Given the description of an element on the screen output the (x, y) to click on. 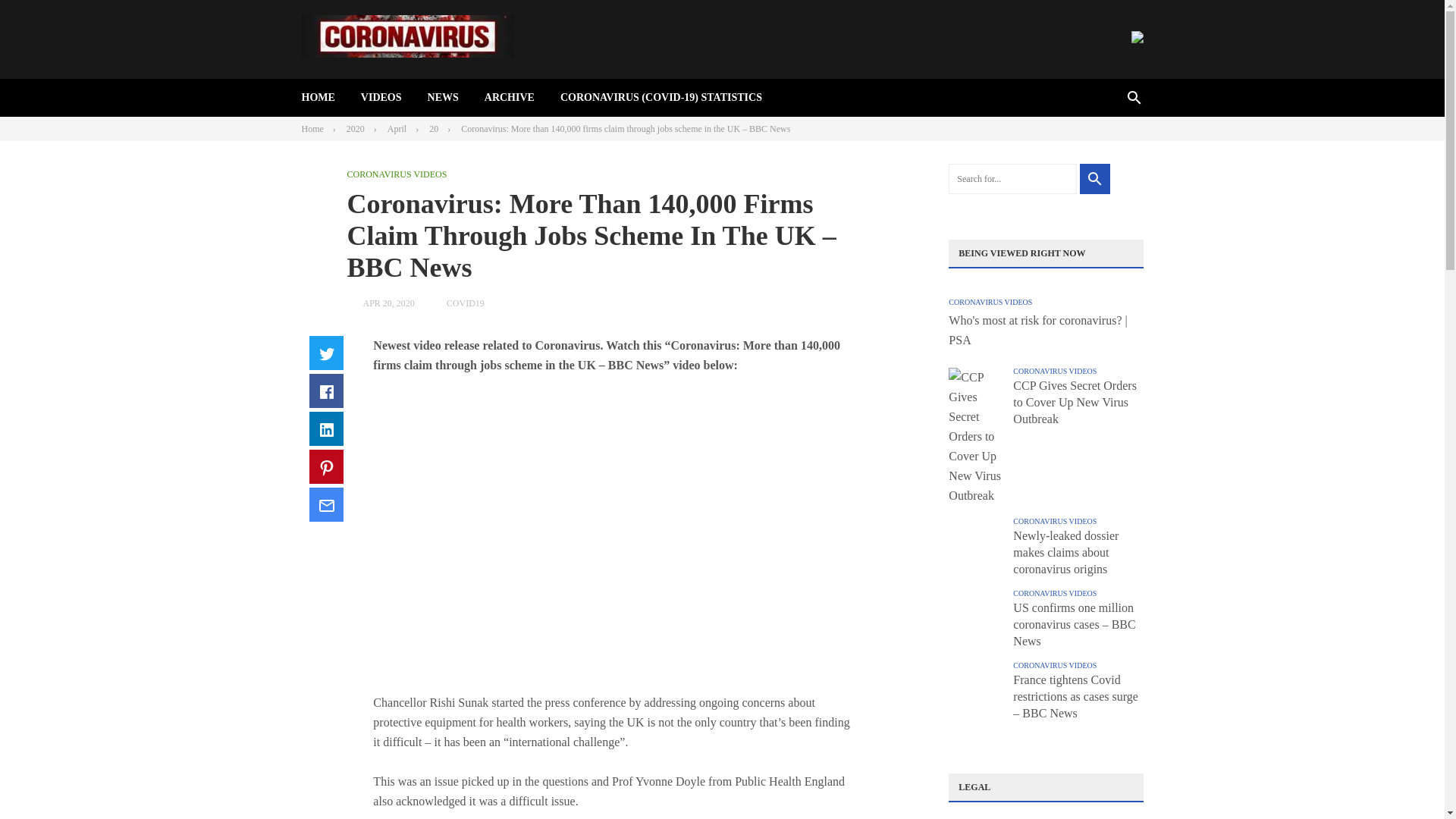
COVID19 (465, 303)
Twitter (325, 352)
2020 (355, 128)
LinkedIn (325, 428)
APR 20, 2020 (387, 303)
Email (325, 504)
April (396, 128)
Search for: (1013, 178)
Facebook (325, 390)
CORONAVIRUS VIDEOS (396, 173)
Pinterest (325, 466)
VIDEOS (381, 97)
ARCHIVE (509, 97)
Home (312, 128)
